Given the description of an element on the screen output the (x, y) to click on. 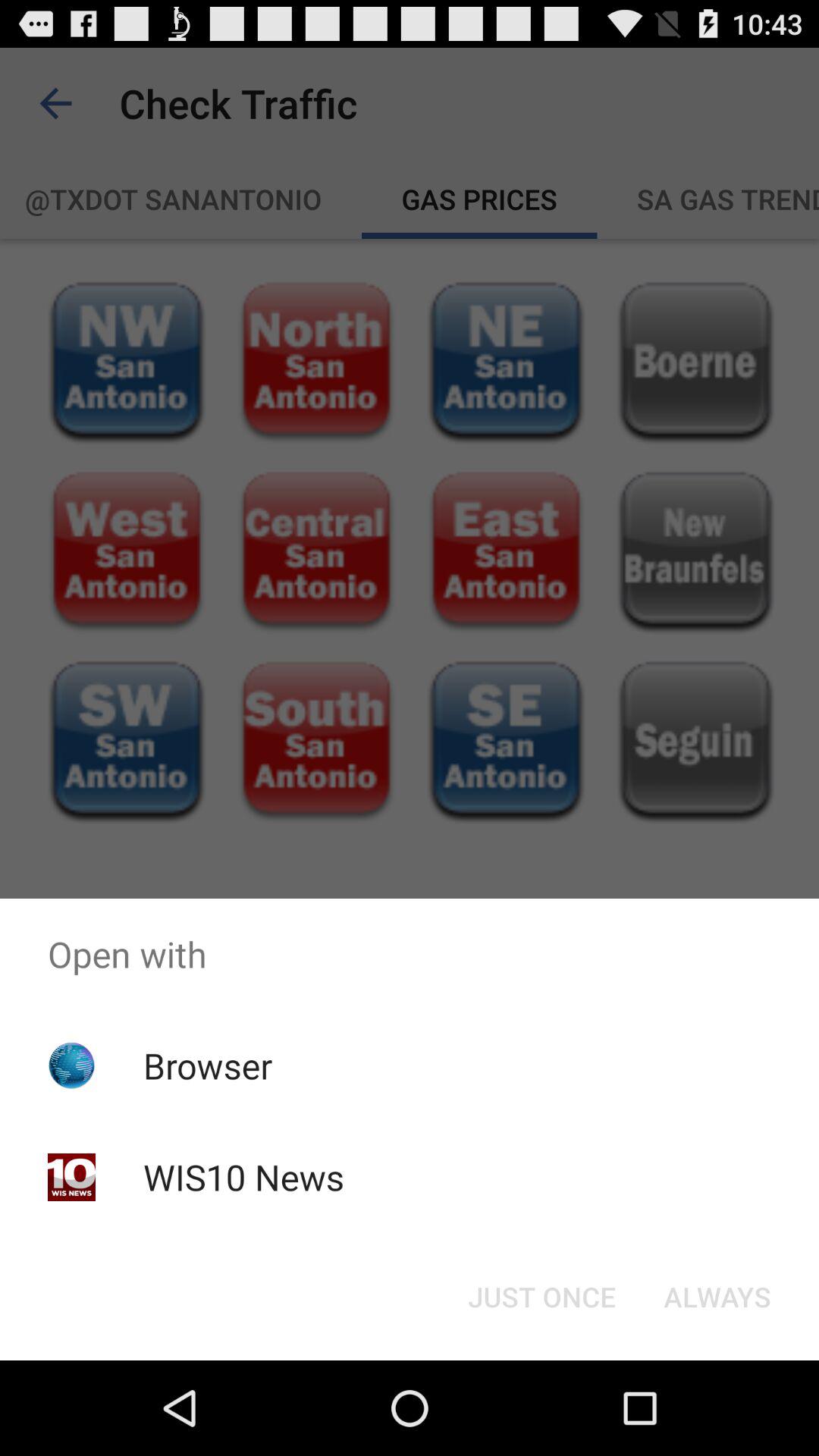
launch icon above wis10 news (207, 1065)
